Given the description of an element on the screen output the (x, y) to click on. 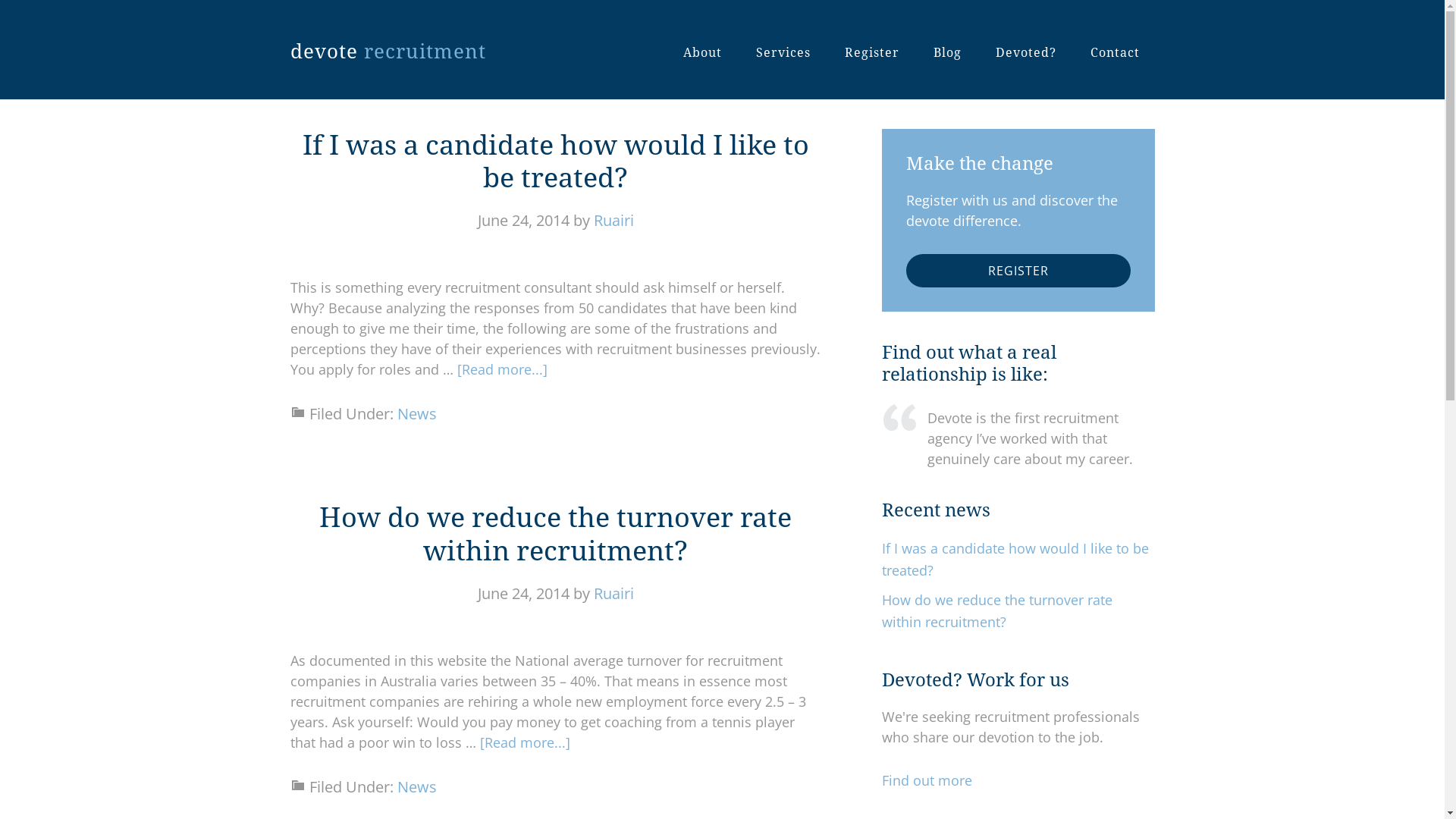
Ruairi Element type: text (613, 220)
Blog Element type: text (946, 52)
Register Element type: text (871, 52)
[Read more...] Element type: text (501, 369)
Ruairi Element type: text (613, 593)
REGISTER Element type: text (1017, 270)
Devoted? Element type: text (1024, 52)
[Read more...] Element type: text (524, 742)
Find out more Element type: text (926, 780)
How do we reduce the turnover rate within recruitment? Element type: text (996, 610)
Services Element type: text (782, 52)
How do we reduce the turnover rate within recruitment? Element type: text (555, 533)
News Element type: text (416, 786)
If I was a candidate how would I like to be treated? Element type: text (1014, 559)
If I was a candidate how would I like to be treated? Element type: text (554, 161)
Contact Element type: text (1114, 52)
devote recruitment Element type: text (387, 51)
News Element type: text (416, 413)
About Element type: text (701, 52)
